Given the description of an element on the screen output the (x, y) to click on. 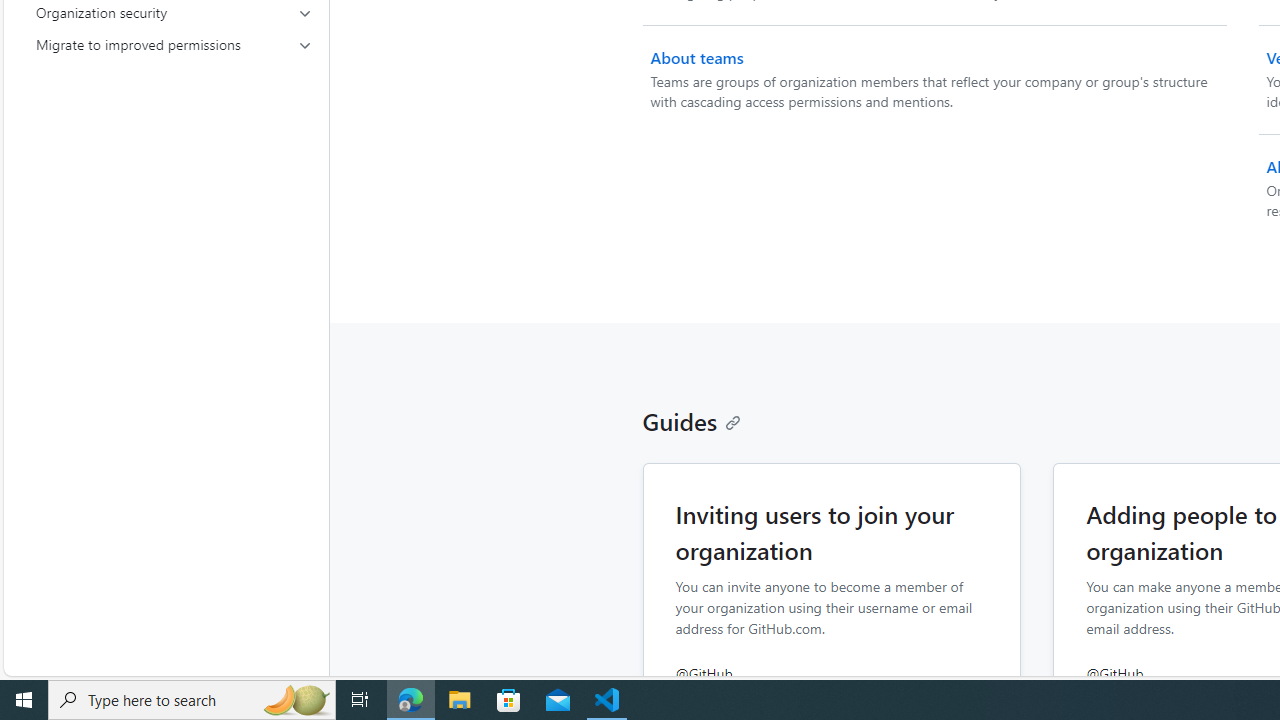
Guides (692, 420)
Migrate to improved permissions (174, 44)
Migrate to improved permissions (174, 44)
